Given the description of an element on the screen output the (x, y) to click on. 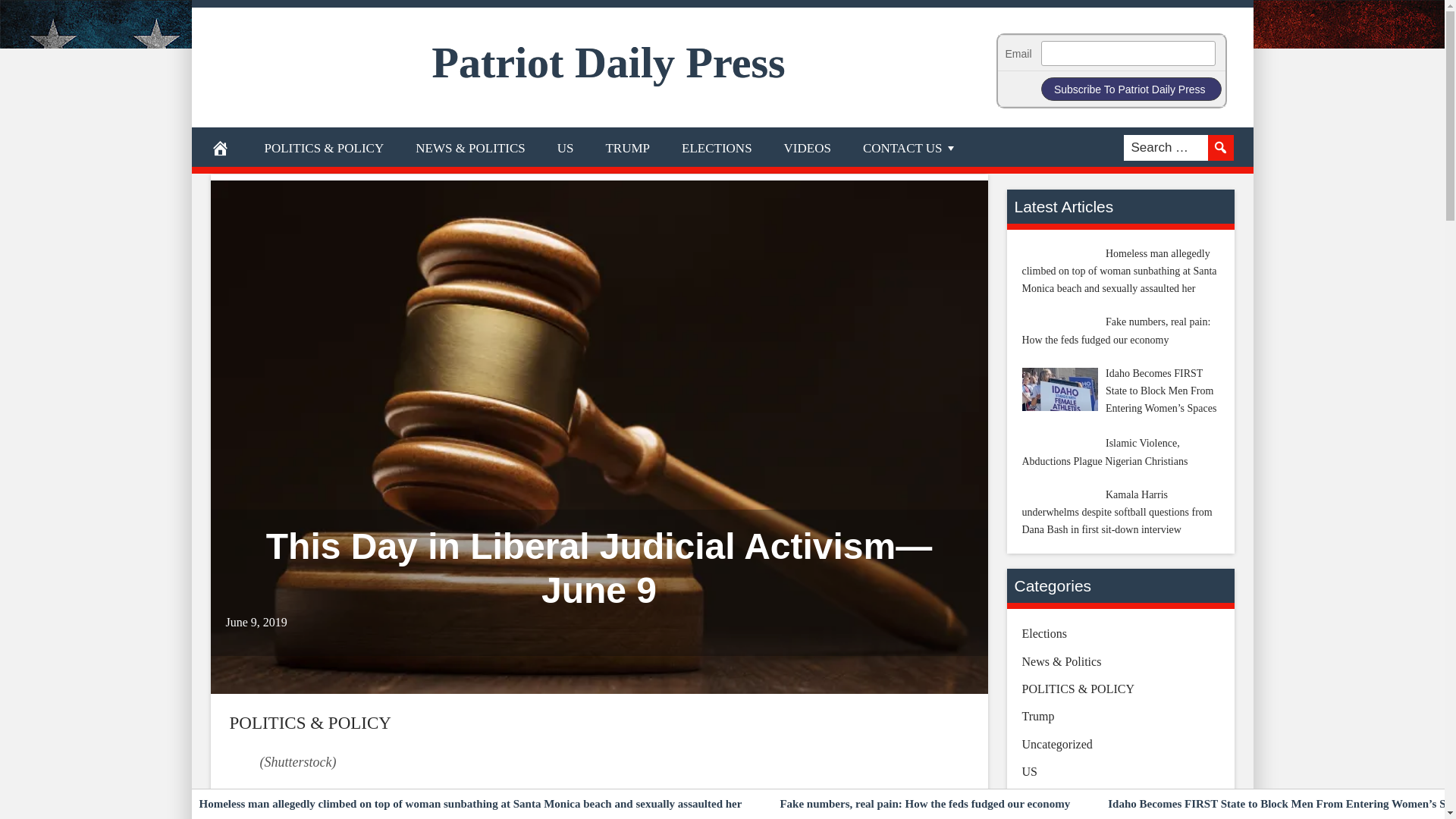
TRUMP (627, 147)
CONTACT US (910, 147)
US (565, 147)
ELECTIONS (716, 147)
VIDEOS (807, 147)
Subscribe To Patriot Daily Press  (1131, 88)
Fake numbers, real pain: How the feds fudged our economy (924, 803)
Subscribe To Patriot Daily Press  (1131, 88)
Patriot Daily Press (609, 61)
